Given the description of an element on the screen output the (x, y) to click on. 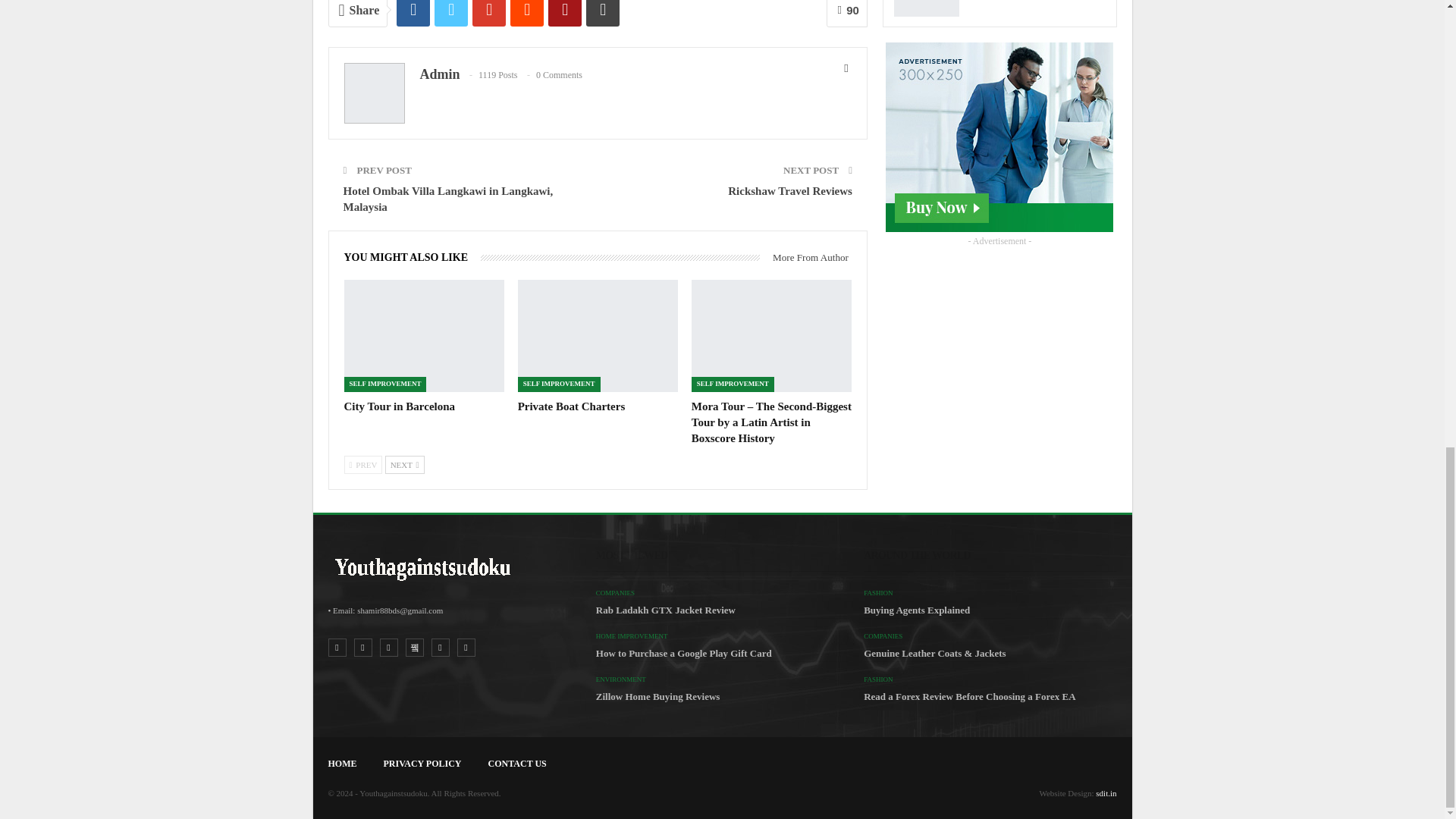
Private Boat Charters (572, 406)
Private Boat Charters (598, 336)
Previous (362, 464)
Next (405, 464)
City Tour in Barcelona (423, 336)
City Tour in Barcelona (399, 406)
